Given the description of an element on the screen output the (x, y) to click on. 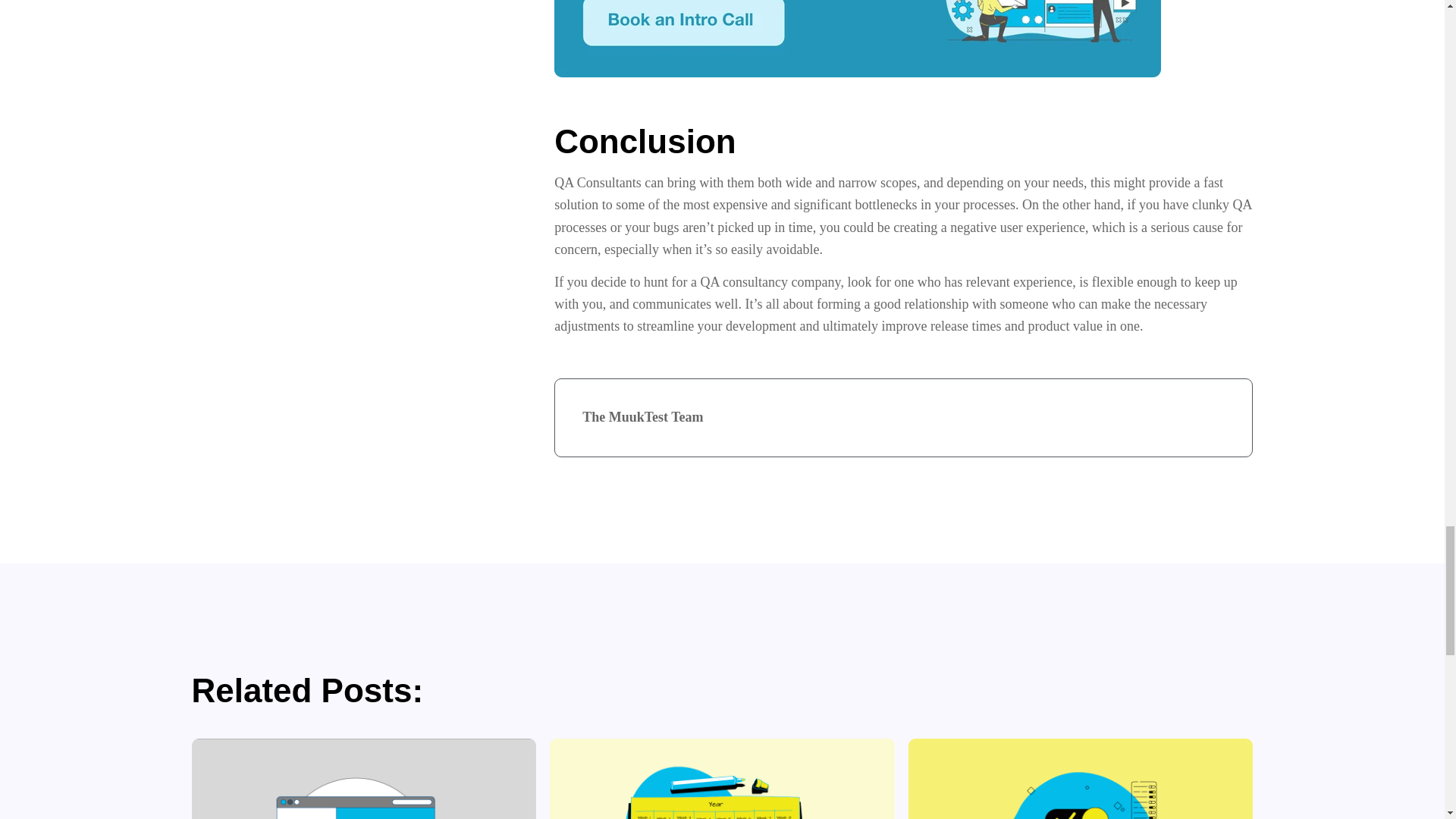
The MuukTest Team (642, 417)
Embedded CTA (857, 38)
